Given the description of an element on the screen output the (x, y) to click on. 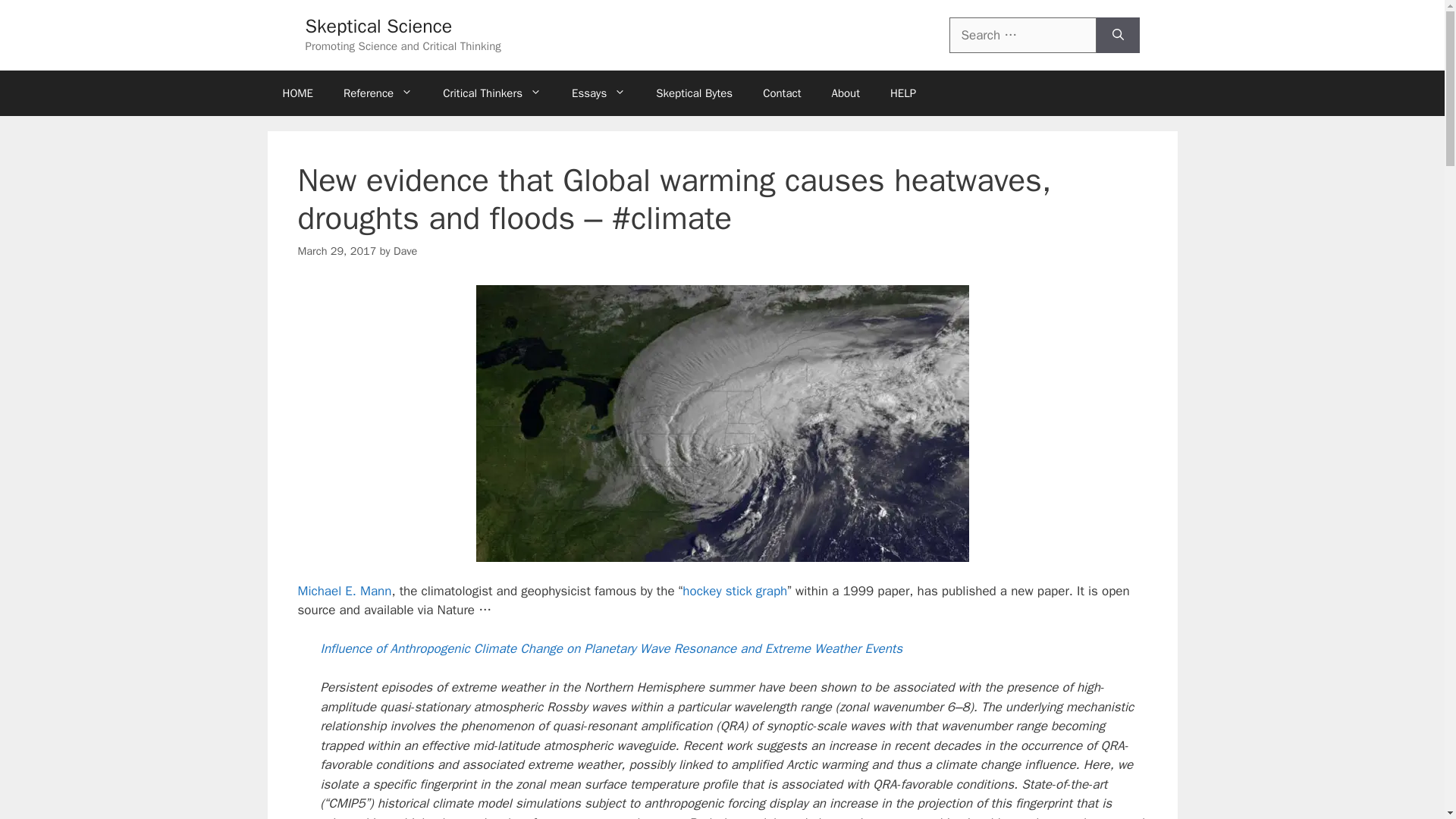
About (845, 92)
HELP (903, 92)
Search for: (1022, 34)
HOME (296, 92)
Critical Thinkers (492, 92)
View all posts by Dave (404, 250)
Reference (378, 92)
Hockey stick graph (734, 590)
Skeptical Bytes (694, 92)
Michael E. Mann (344, 590)
Contact (781, 92)
Dave (404, 250)
Essays (598, 92)
hockey stick graph (734, 590)
Skeptical Science (377, 25)
